Given the description of an element on the screen output the (x, y) to click on. 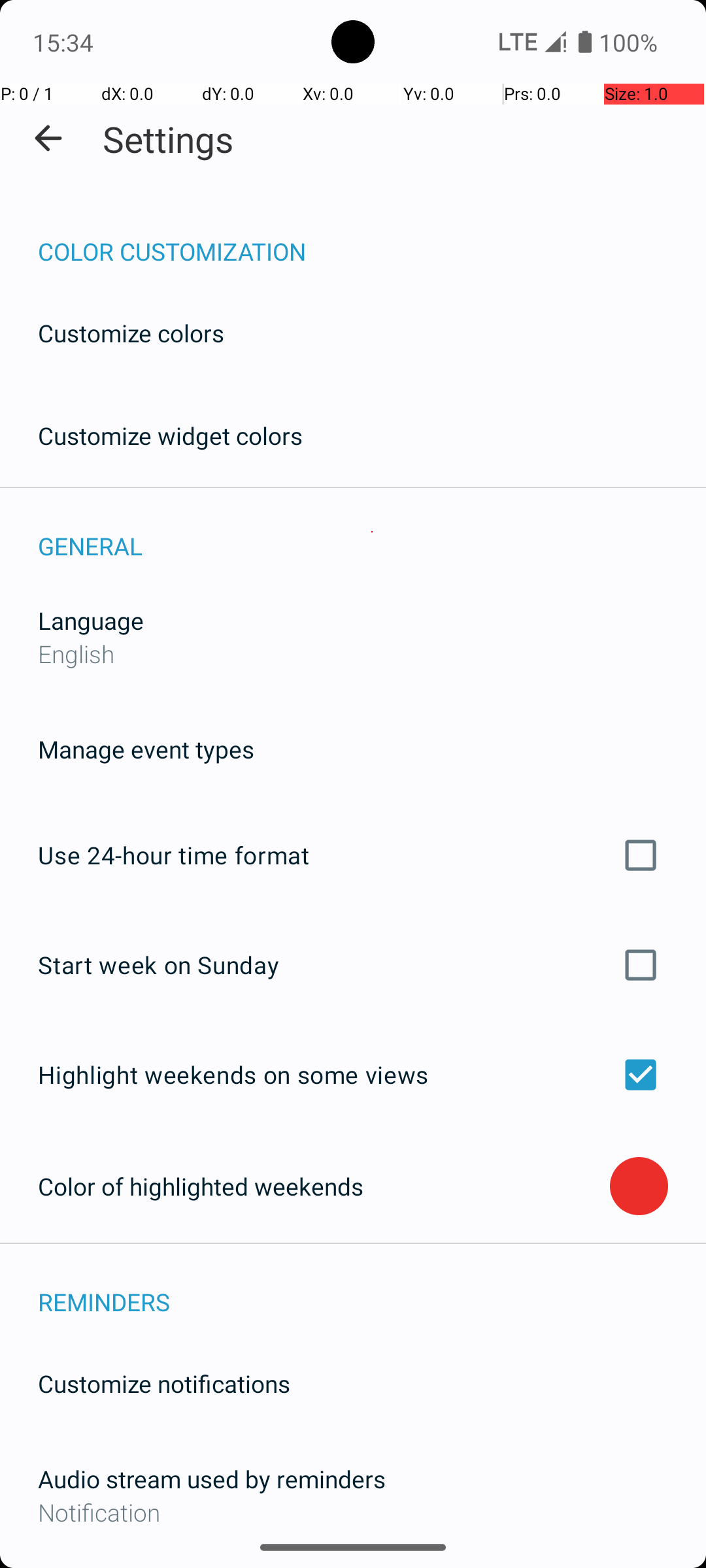
Color of highlighted weekends Element type: android.widget.TextView (323, 1186)
